Given the description of an element on the screen output the (x, y) to click on. 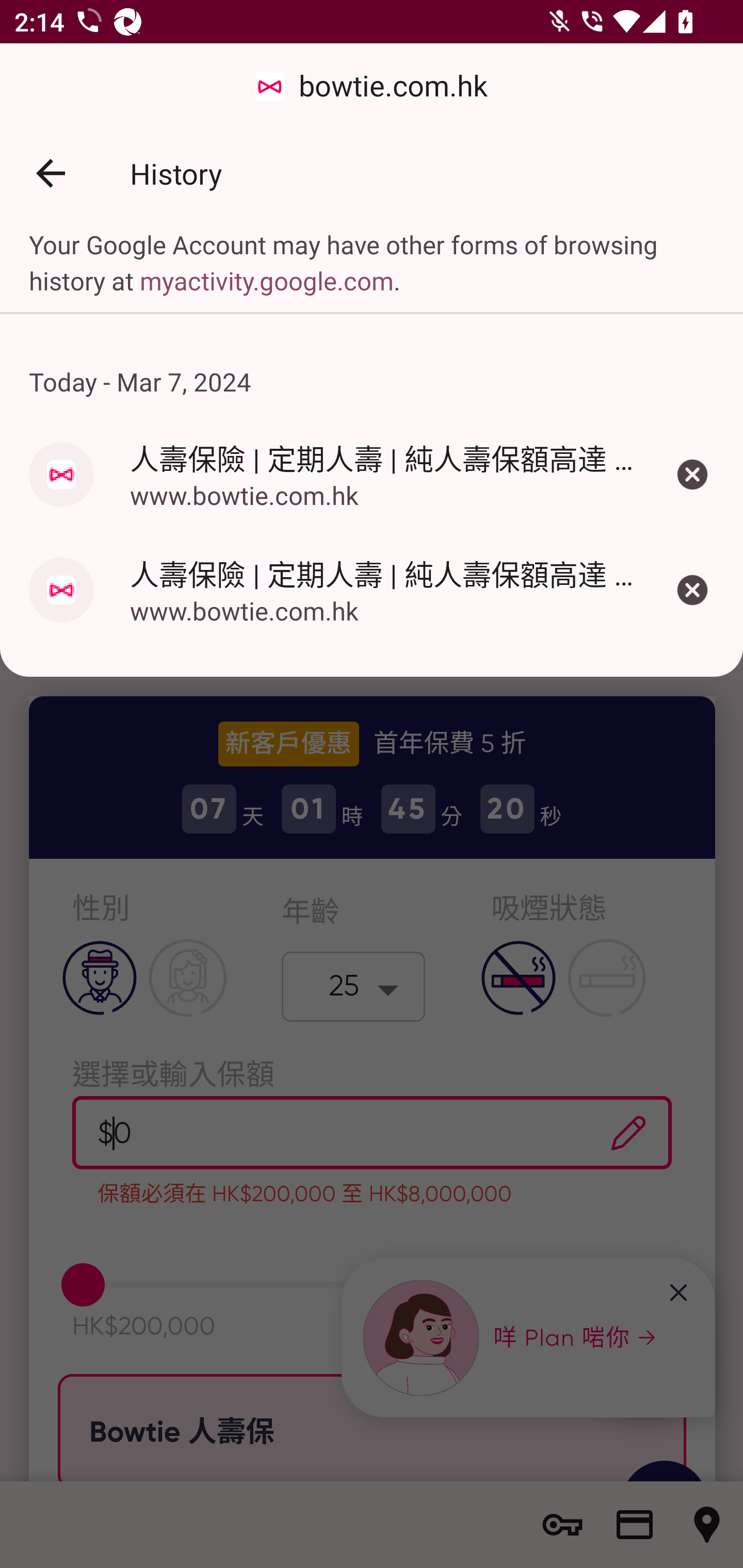
bowtie.com.hk (371, 86)
Back (50, 173)
人壽保險 | 定期人壽 | 純人壽保額高達 $2000 萬 | Bowtie Remove (692, 474)
人壽保險 | 定期人壽 | 純人壽保額高達 $2000 萬 | Bowtie Remove (692, 589)
